Given the description of an element on the screen output the (x, y) to click on. 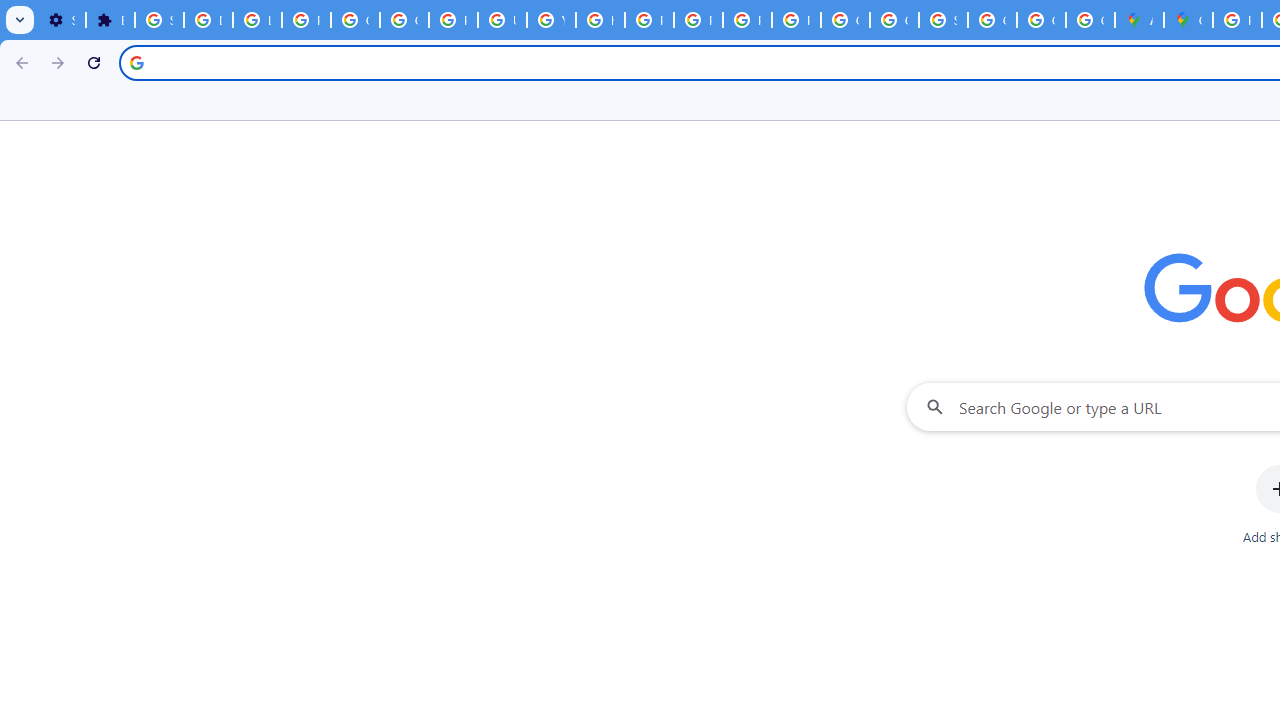
Privacy Help Center - Policies Help (649, 20)
